Given the description of an element on the screen output the (x, y) to click on. 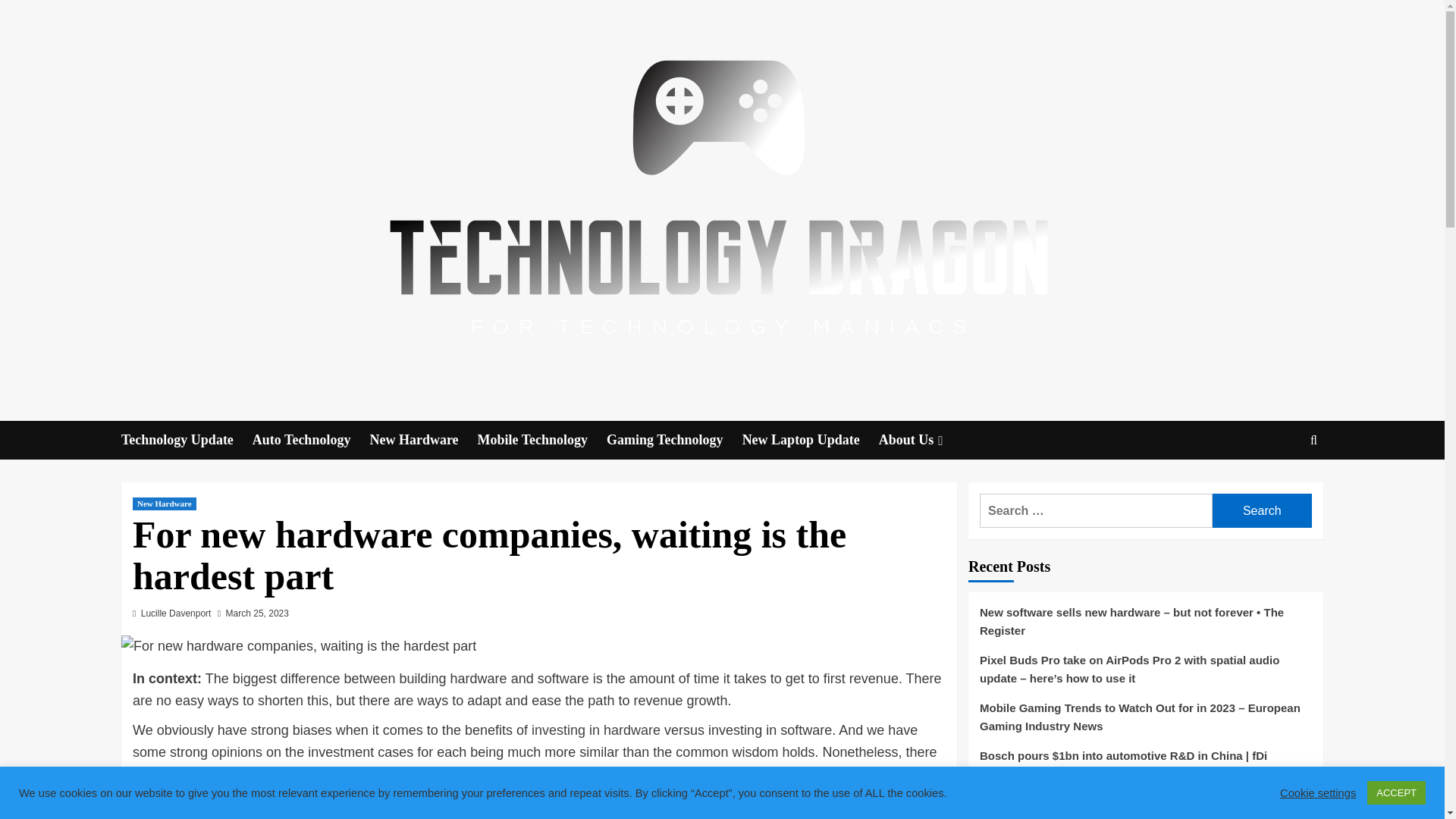
Gaming Technology (674, 439)
New Hardware (423, 439)
Auto Technology (310, 439)
Search (1278, 487)
Lucille Davenport (176, 613)
About Us (922, 439)
New Hardware (164, 503)
For new hardware companies, waiting is the hardest part (298, 646)
investing in hardware (596, 729)
Search (1261, 510)
Search (1261, 510)
Technology Update (185, 439)
March 25, 2023 (256, 613)
Mobile Technology (542, 439)
New Laptop Update (810, 439)
